Given the description of an element on the screen output the (x, y) to click on. 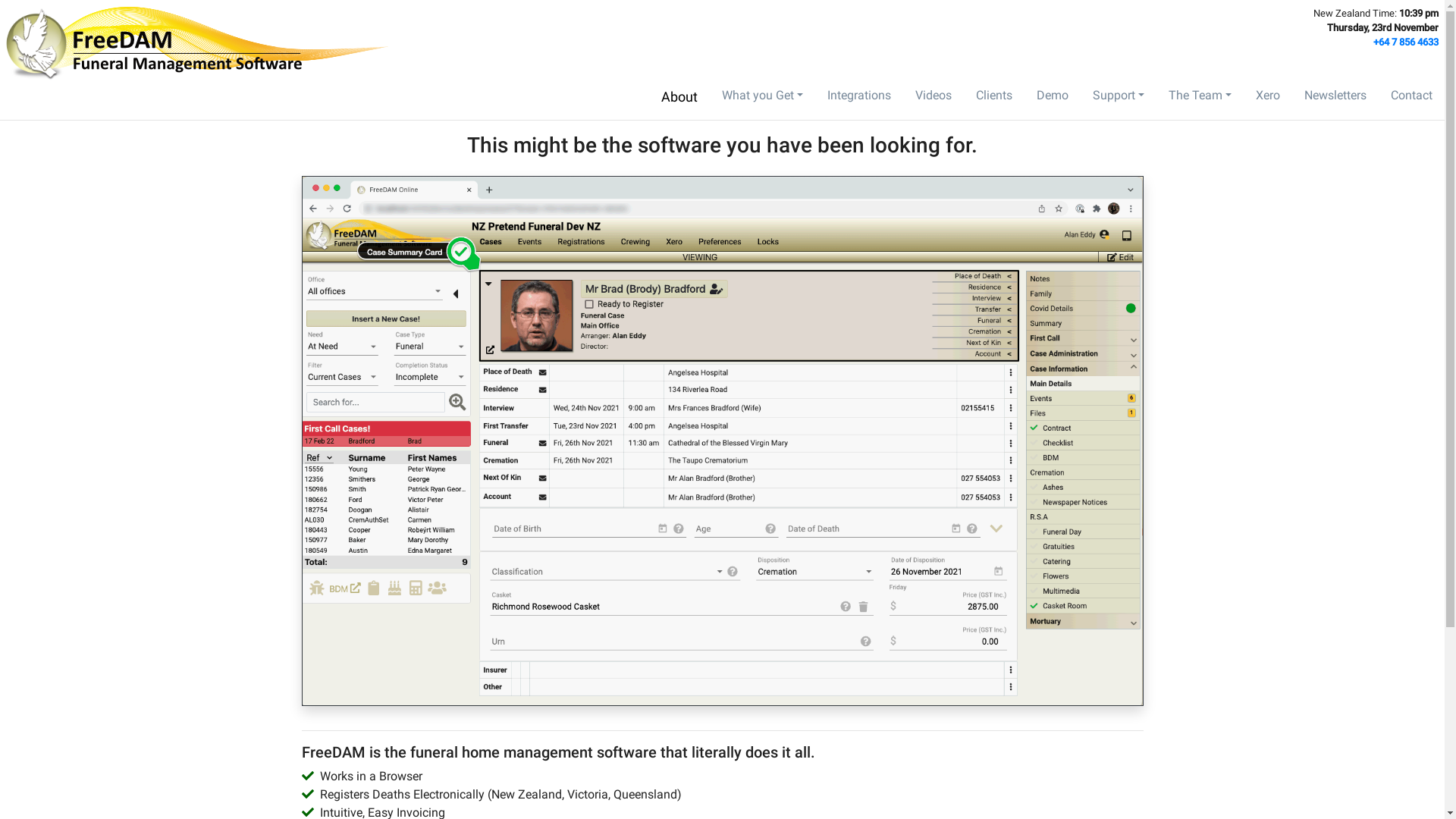
Xero Element type: text (1267, 96)
Integrations Element type: text (859, 96)
Contact Element type: text (1411, 96)
About Element type: text (679, 96)
The Team Element type: text (1199, 95)
+64 7 856 4633 Element type: text (1405, 41)
What you Get Element type: text (762, 95)
Videos Element type: text (933, 96)
Newsletters Element type: text (1335, 96)
Clients Element type: text (993, 96)
Support Element type: text (1118, 95)
Demo Element type: text (1052, 96)
